Given the description of an element on the screen output the (x, y) to click on. 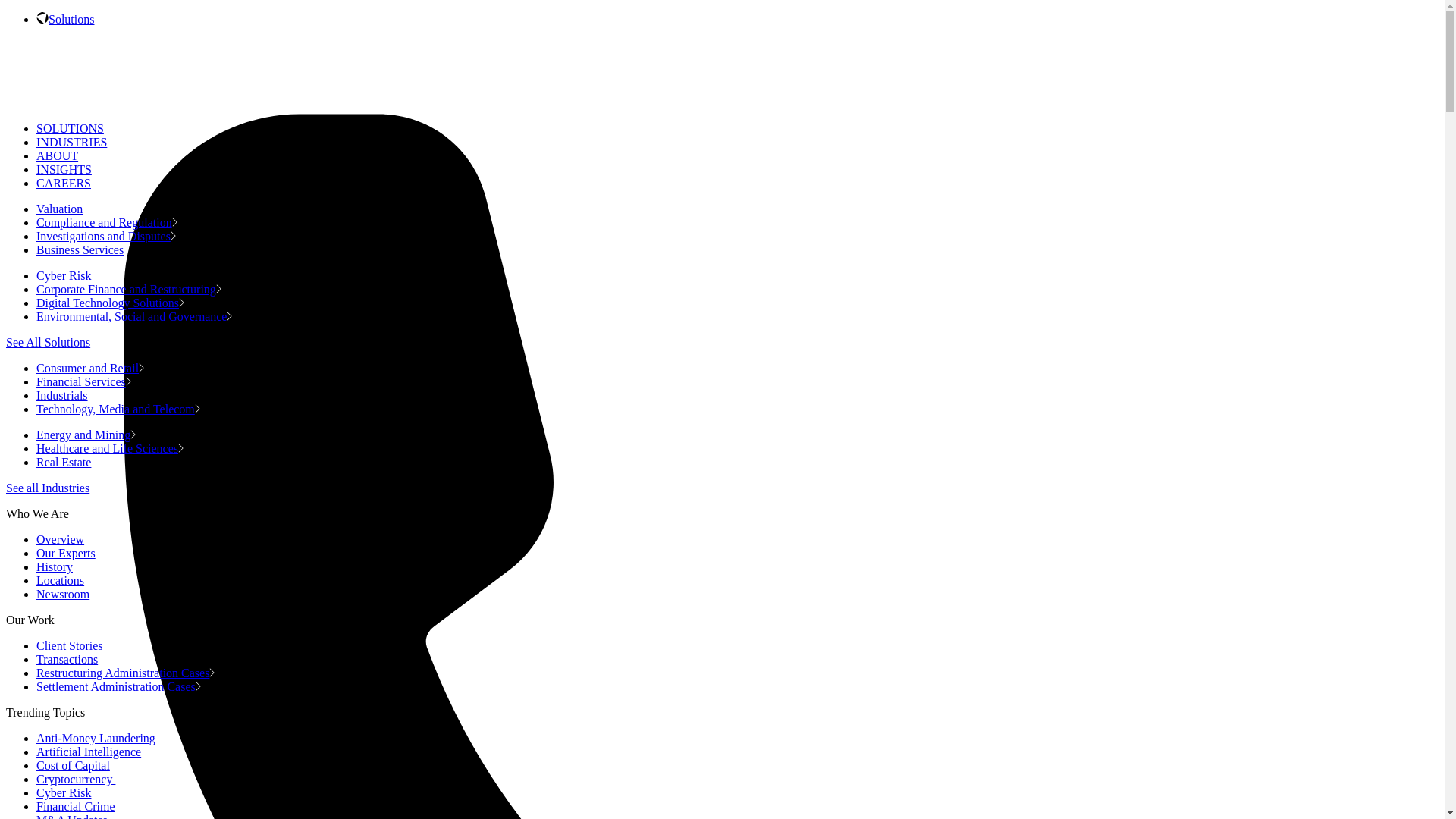
Valuation (61, 208)
Financial Services (83, 381)
SOLUTIONS (69, 128)
Energy and Mining (85, 434)
Corporate Finance and Restructuring (128, 288)
Consumer and Retail (90, 367)
INSIGHTS (63, 169)
Our Capabilities (71, 19)
Investigations and Disputes (106, 236)
CAREERS (63, 182)
